Given the description of an element on the screen output the (x, y) to click on. 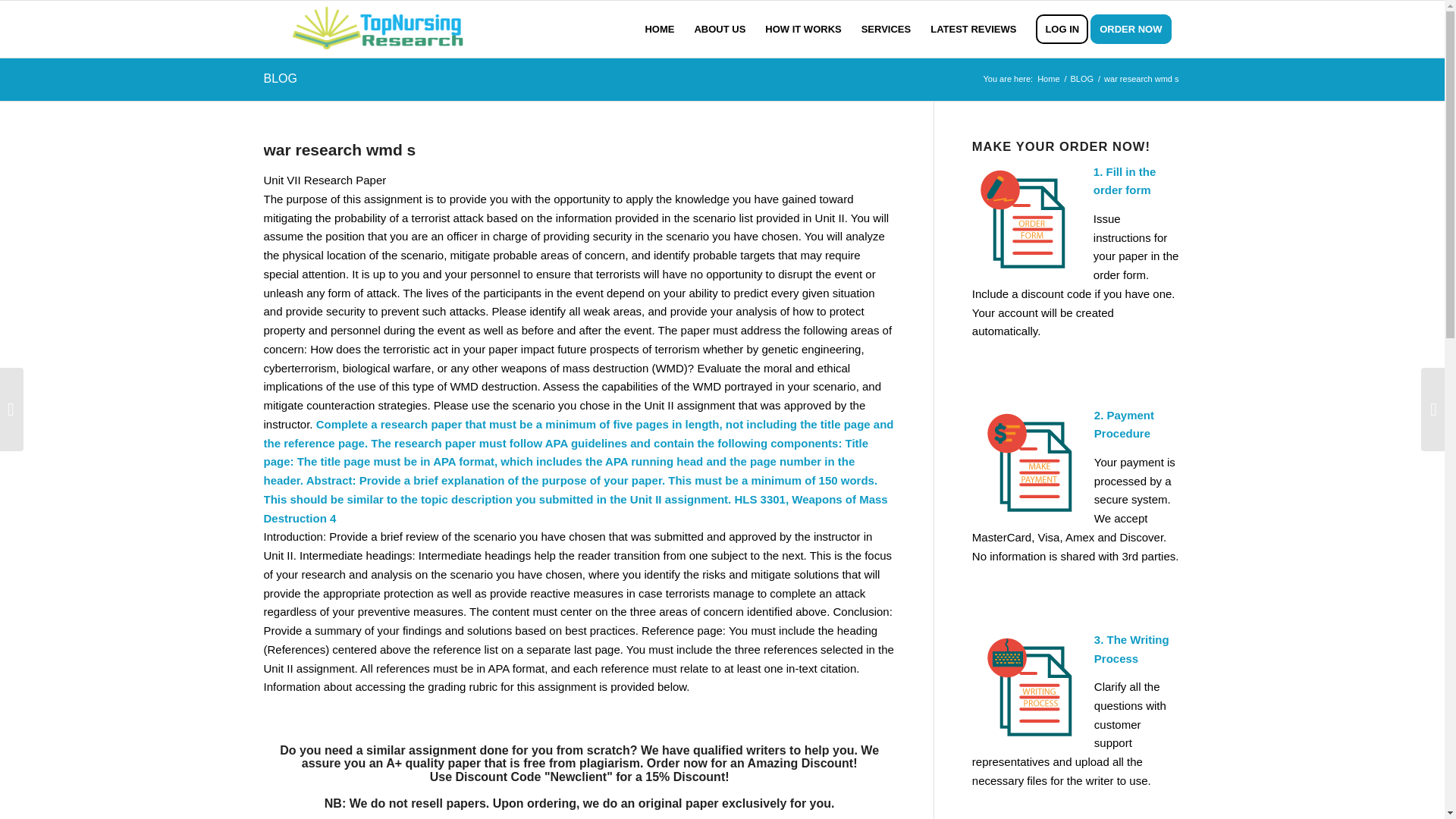
war research wmd s (339, 149)
ABOUT US (719, 28)
BLOG (1081, 79)
SERVICES (886, 28)
ORDER NOW (1135, 28)
BLOG (1081, 79)
Home (1048, 79)
BLOG (280, 78)
LOG IN (1061, 28)
LATEST REVIEWS (973, 28)
Permanent Link: BLOG (280, 78)
HOW IT WORKS (802, 28)
Permanent Link: war research wmd s (339, 149)
topnursingresearch (1048, 79)
